Given the description of an element on the screen output the (x, y) to click on. 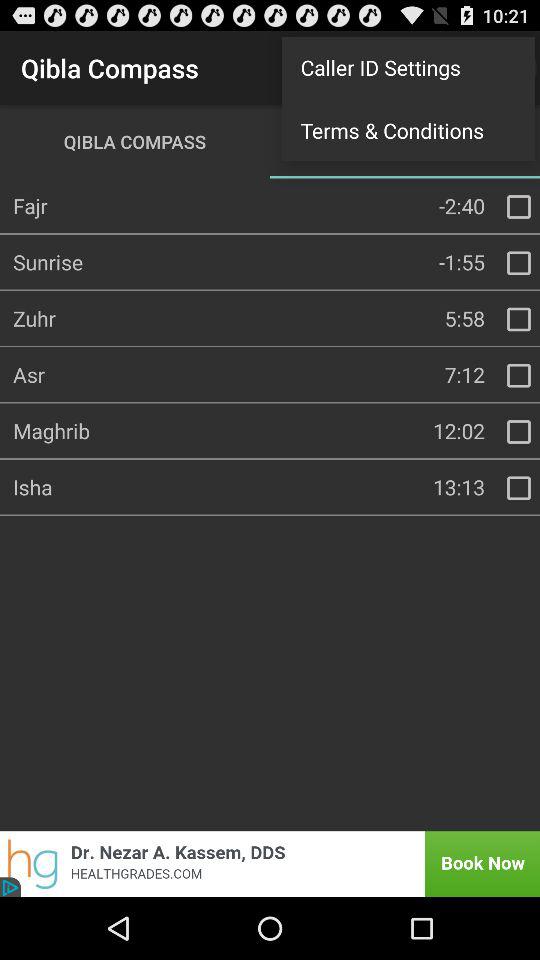
go to click putton (519, 488)
